Given the description of an element on the screen output the (x, y) to click on. 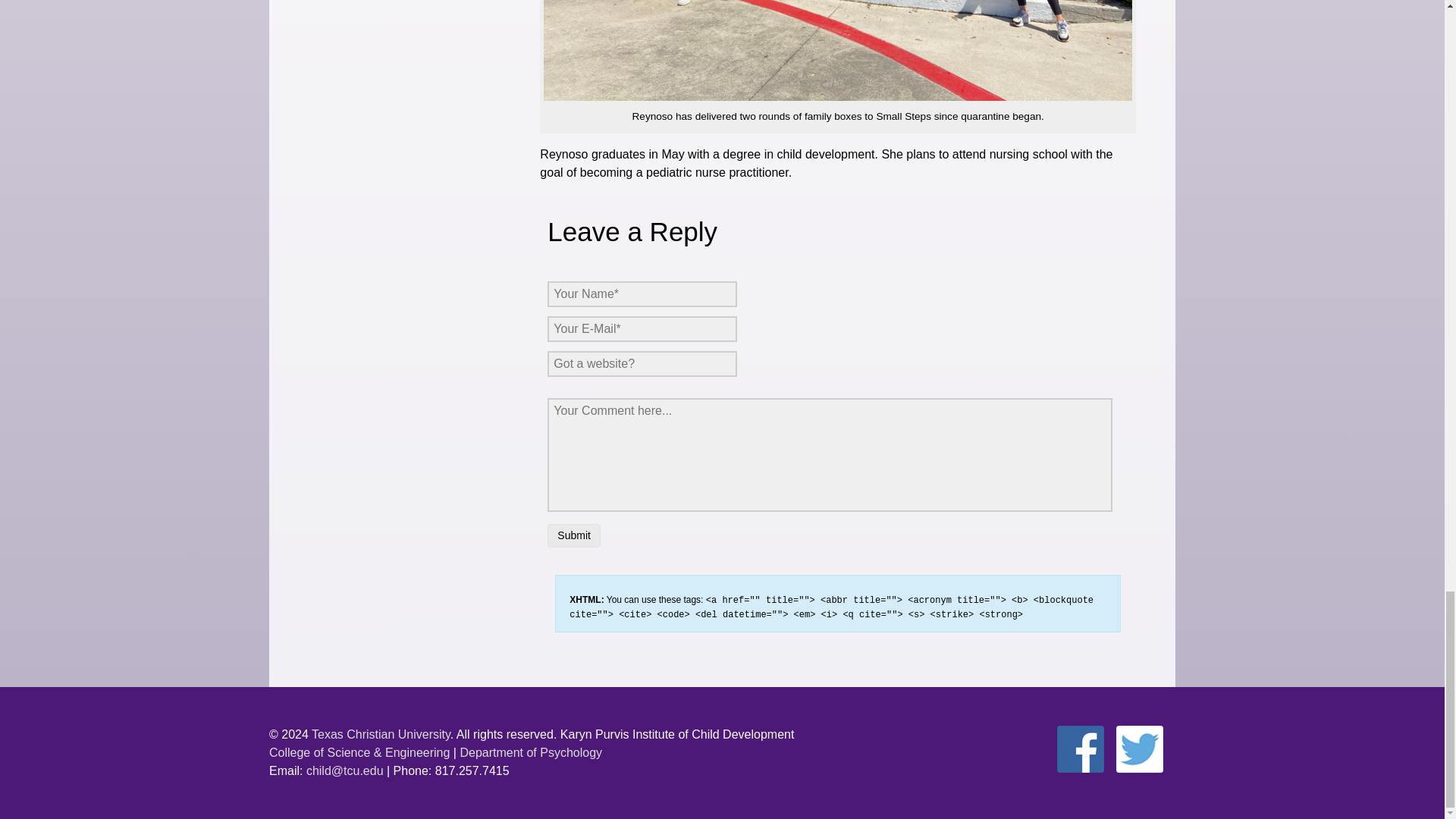
Submit (573, 535)
